Given the description of an element on the screen output the (x, y) to click on. 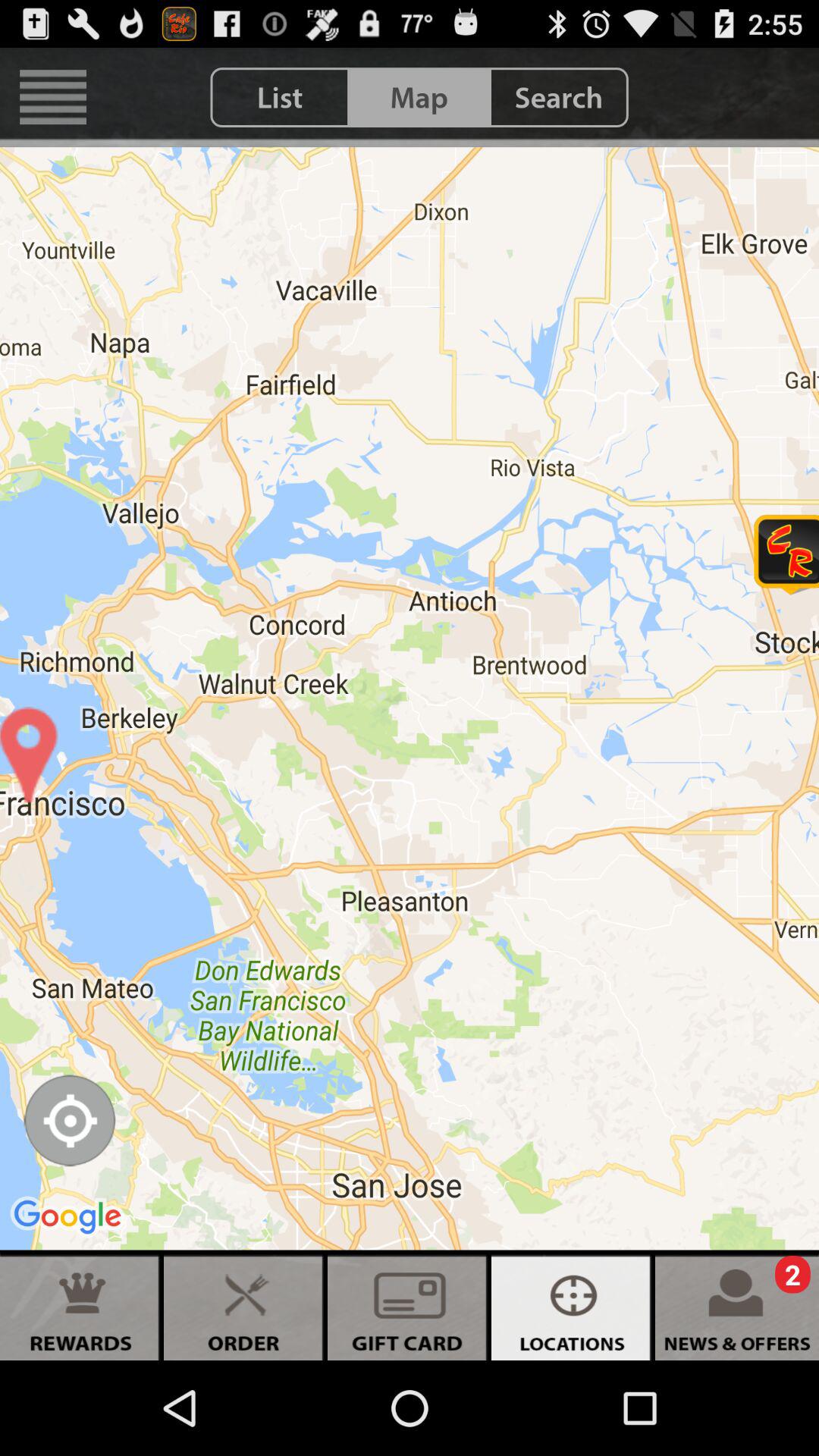
open icon next to the list icon (53, 96)
